Given the description of an element on the screen output the (x, y) to click on. 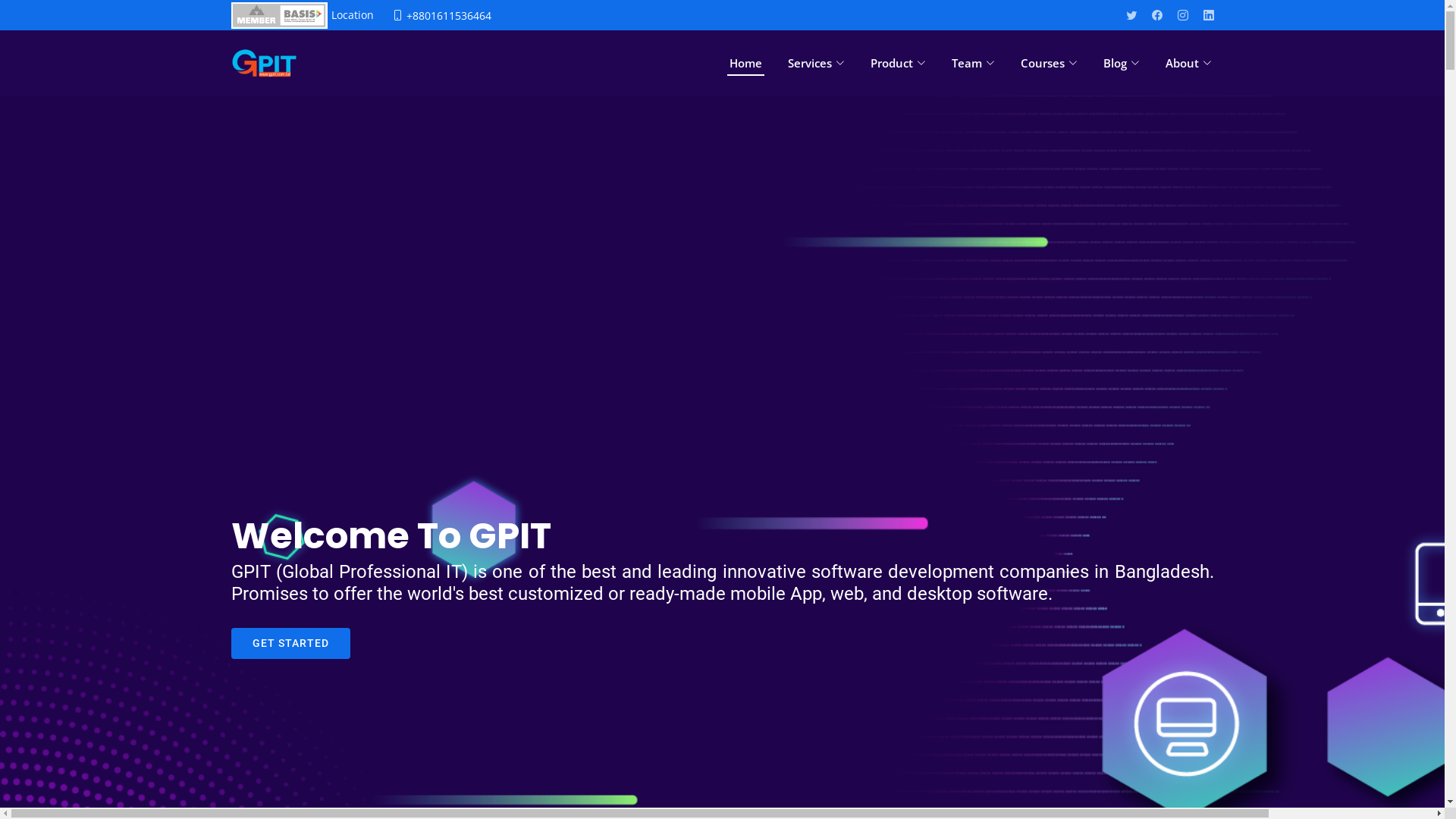
Team Element type: text (973, 63)
TOP SOFTWARE COMPANY IN BANGLADESH Element type: hover (263, 62)
Home Element type: text (744, 63)
About Element type: text (1188, 63)
Product Element type: text (897, 63)
Courses Element type: text (1048, 63)
GET STARTED Element type: text (289, 642)
Blog Element type: text (1121, 63)
Services Element type: text (816, 63)
